Given the description of an element on the screen output the (x, y) to click on. 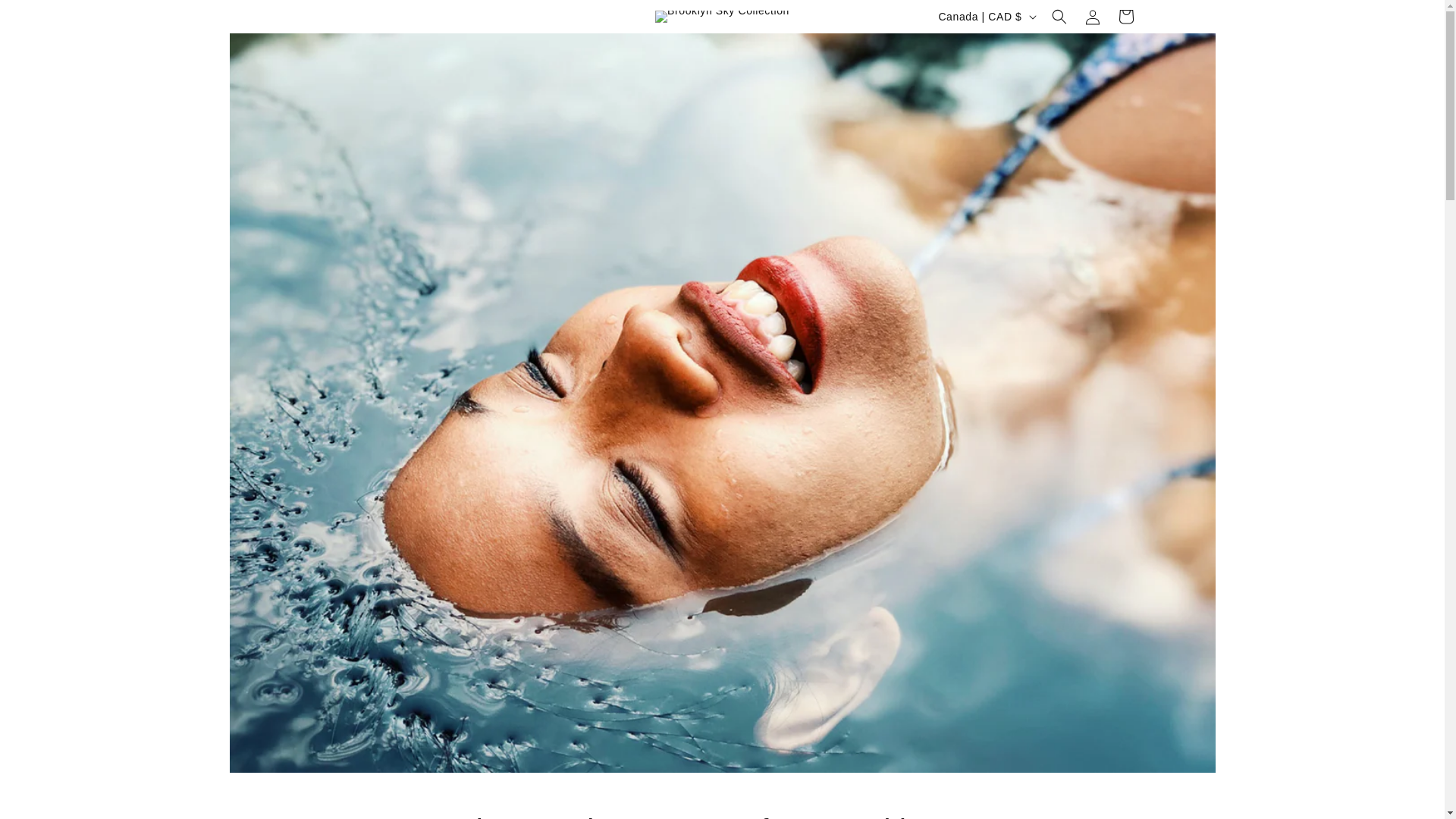
Skip to content (45, 17)
Log in (1091, 16)
Cart (1124, 16)
